Given the description of an element on the screen output the (x, y) to click on. 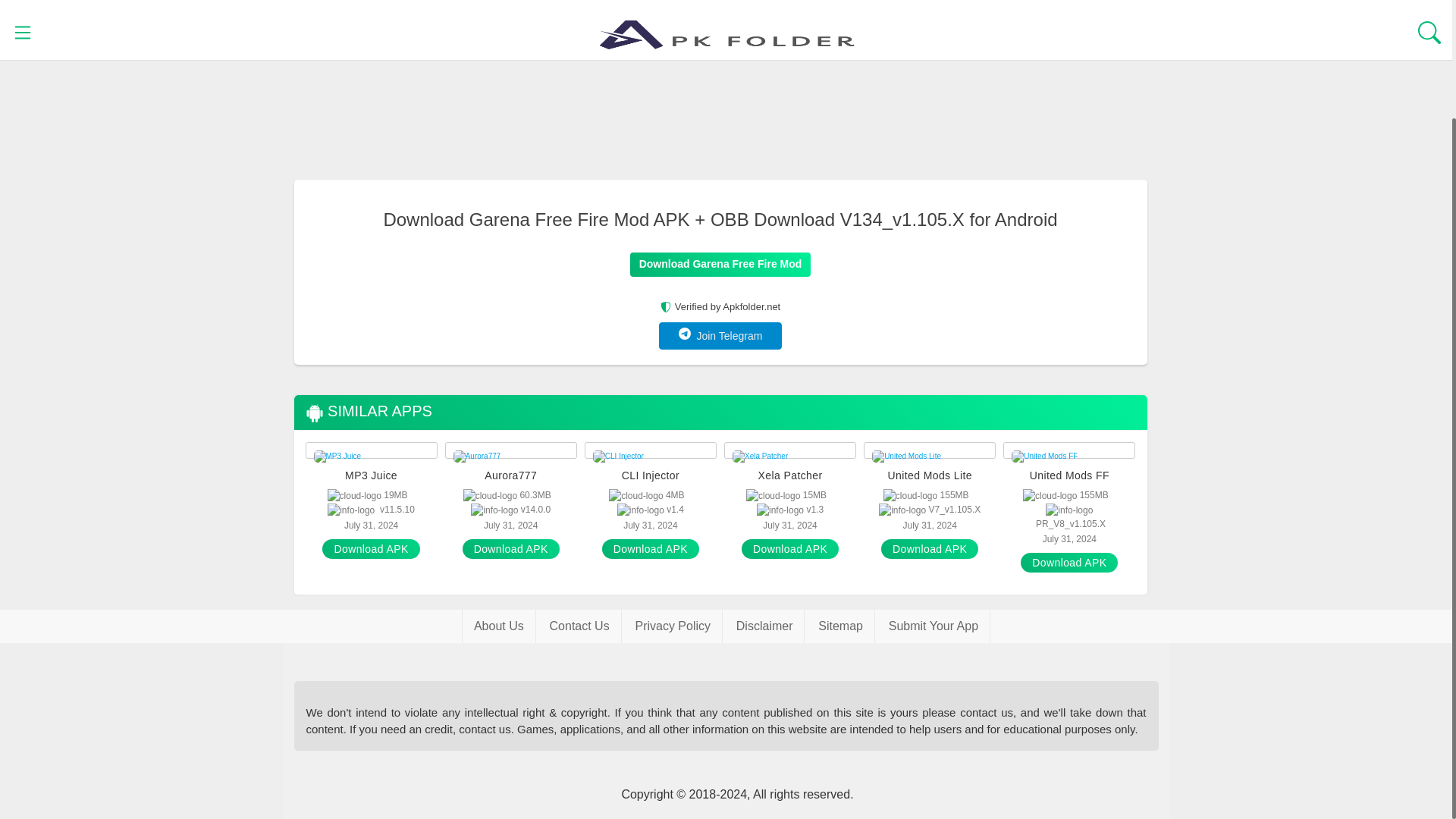
United Mods FF (1068, 475)
Download APK (370, 548)
Submit Your App (933, 625)
Privacy Policy (672, 625)
Sitemap (840, 625)
Download Garena Free Fire Mod (720, 264)
Download APK (929, 548)
Aurora777 (510, 475)
Contact Us (579, 625)
 Join Telegram (721, 335)
Download APK (1069, 562)
MP3 Juice (371, 475)
 SIMILAR APPS (367, 412)
CLI Injector (649, 475)
Download APK (789, 548)
